Given the description of an element on the screen output the (x, y) to click on. 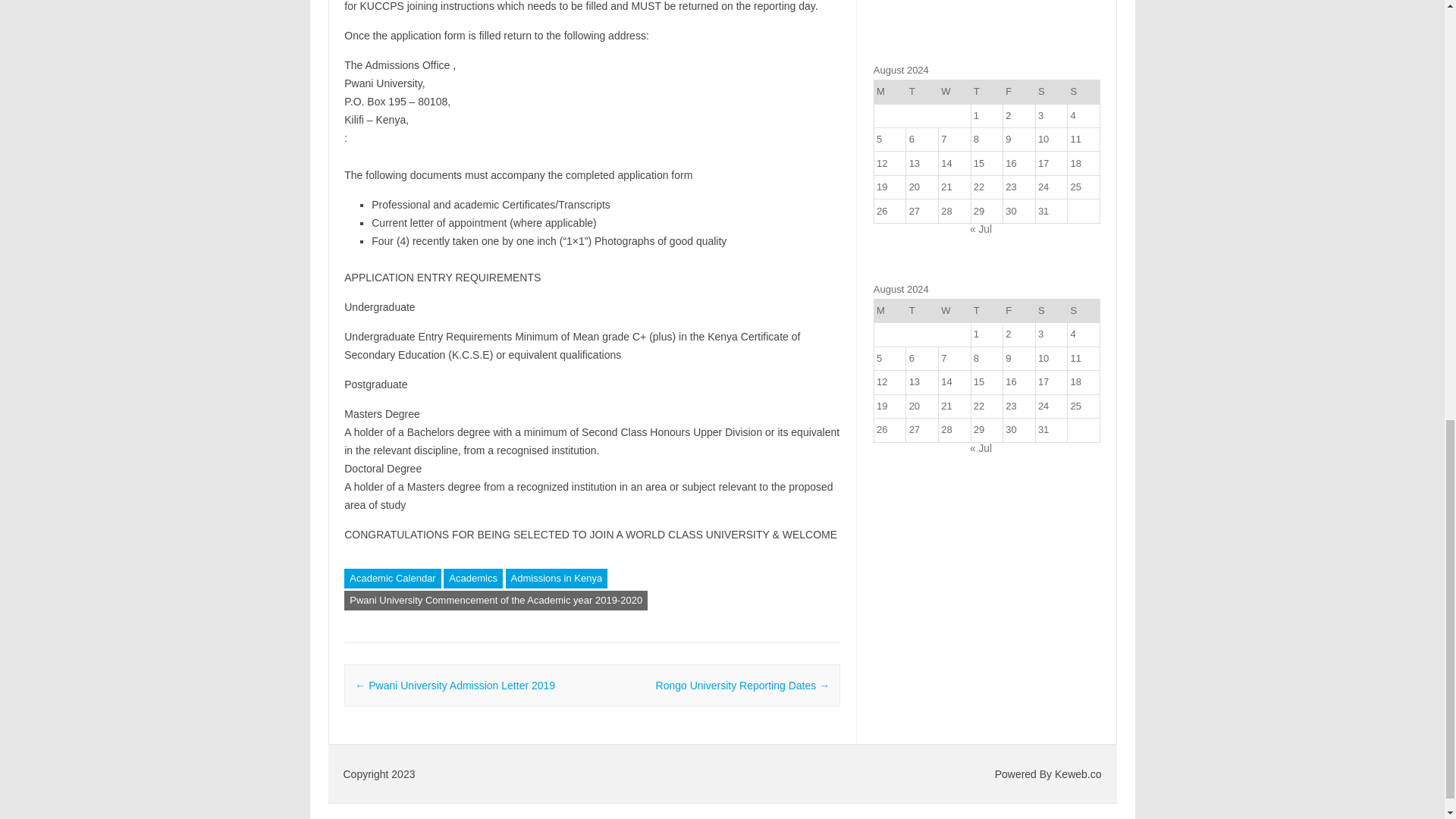
Wednesday (954, 92)
Advertisement (986, 22)
Academic Calendar (392, 578)
Friday (1019, 92)
Saturday (1051, 92)
Admissions in Kenya (556, 578)
Monday (889, 92)
Sunday (1083, 92)
Tuesday (922, 92)
Academics (473, 578)
